Given the description of an element on the screen output the (x, y) to click on. 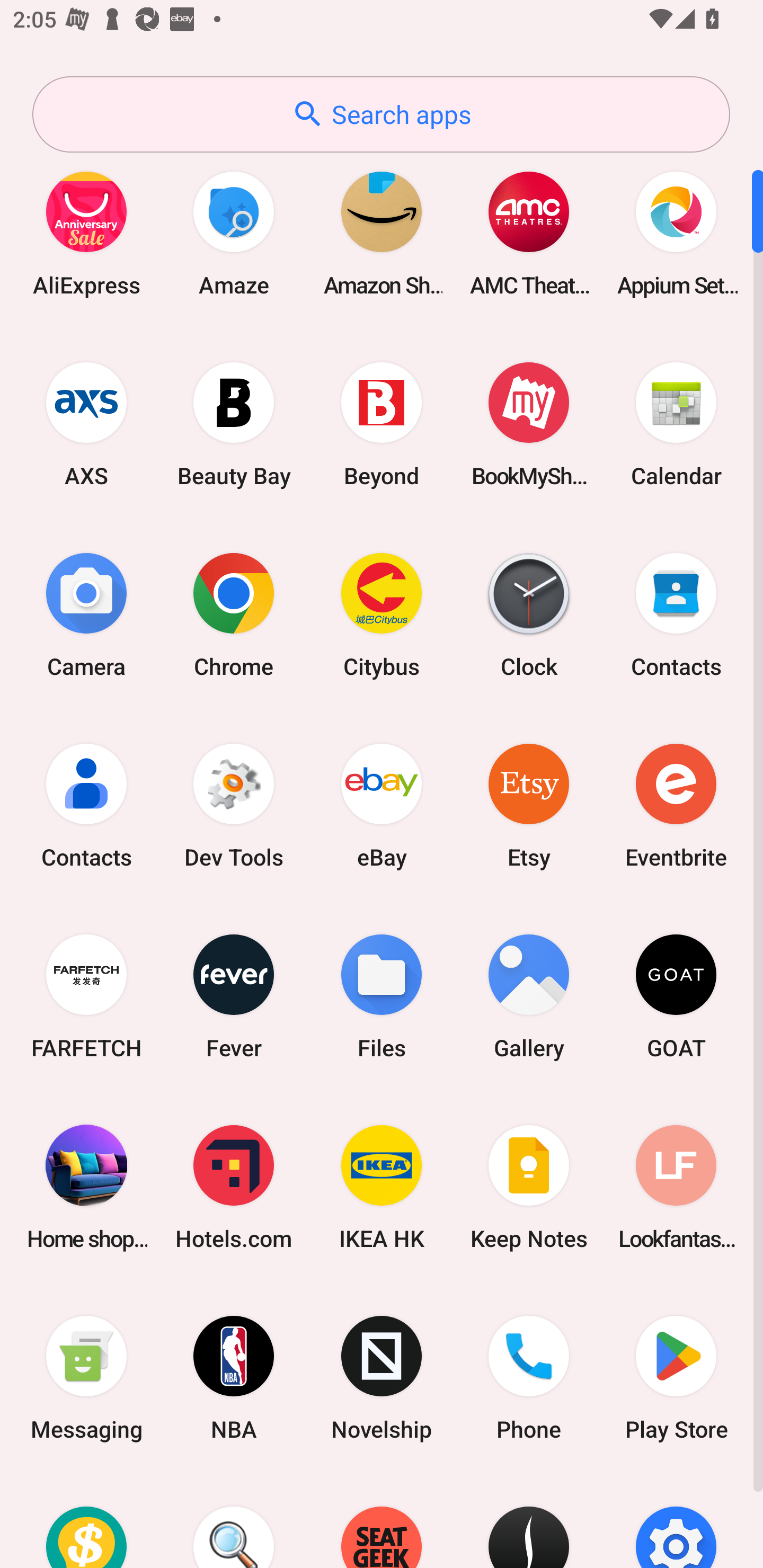
  Search apps (381, 114)
AliExpress (86, 233)
Amaze (233, 233)
Amazon Shopping (381, 233)
AMC Theatres (528, 233)
Appium Settings (676, 233)
AXS (86, 424)
Beauty Bay (233, 424)
Beyond (381, 424)
BookMyShow (528, 424)
Calendar (676, 424)
Camera (86, 614)
Chrome (233, 614)
Citybus (381, 614)
Clock (528, 614)
Contacts (676, 614)
Contacts (86, 805)
Dev Tools (233, 805)
eBay (381, 805)
Etsy (528, 805)
Eventbrite (676, 805)
FARFETCH (86, 996)
Fever (233, 996)
Files (381, 996)
Gallery (528, 996)
GOAT (676, 996)
Home shopping (86, 1186)
Hotels.com (233, 1186)
IKEA HK (381, 1186)
Keep Notes (528, 1186)
Lookfantastic (676, 1186)
Messaging (86, 1377)
NBA (233, 1377)
Novelship (381, 1377)
Phone (528, 1377)
Play Store (676, 1377)
